Given the description of an element on the screen output the (x, y) to click on. 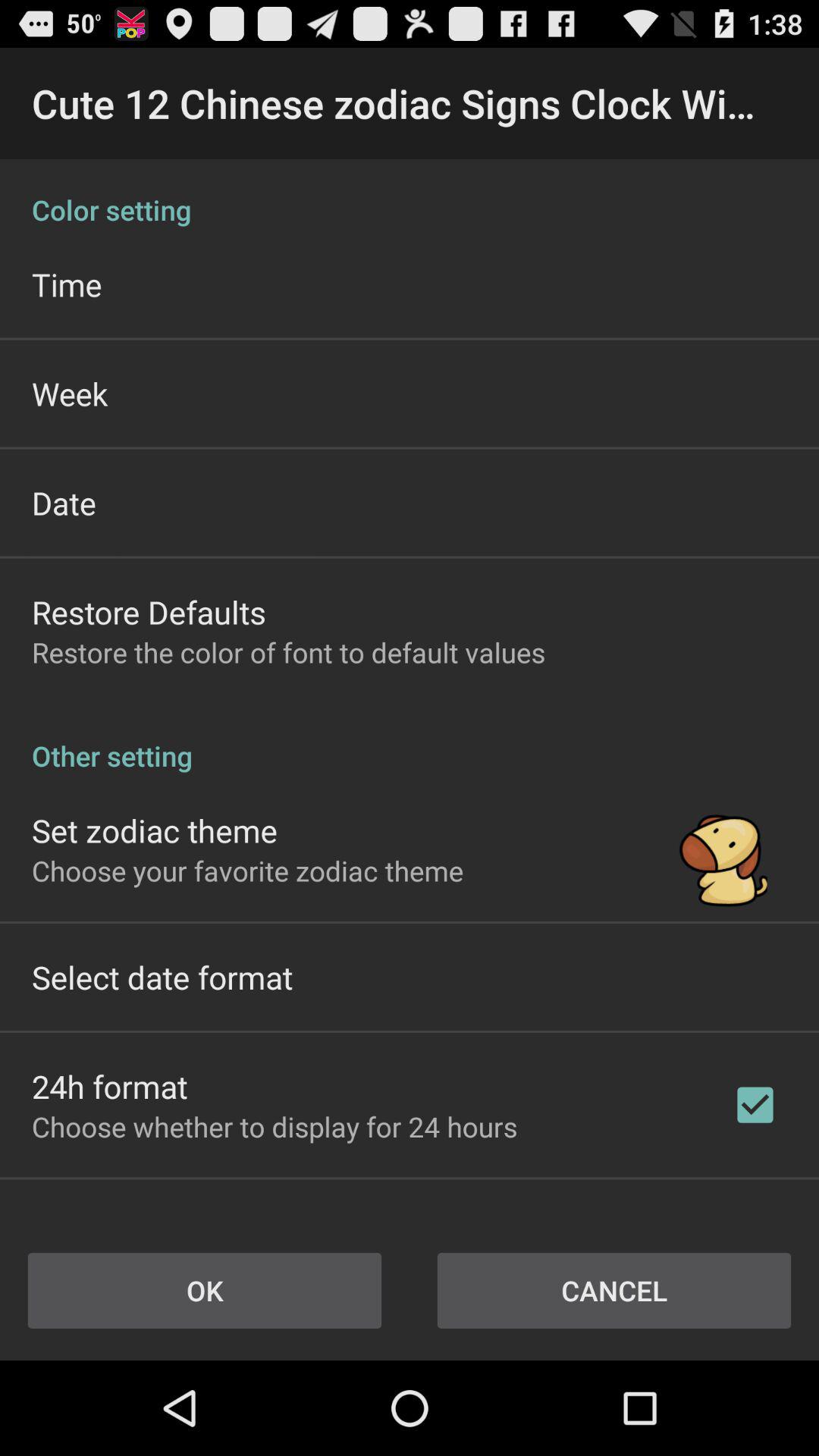
turn off the color setting icon (409, 193)
